Given the description of an element on the screen output the (x, y) to click on. 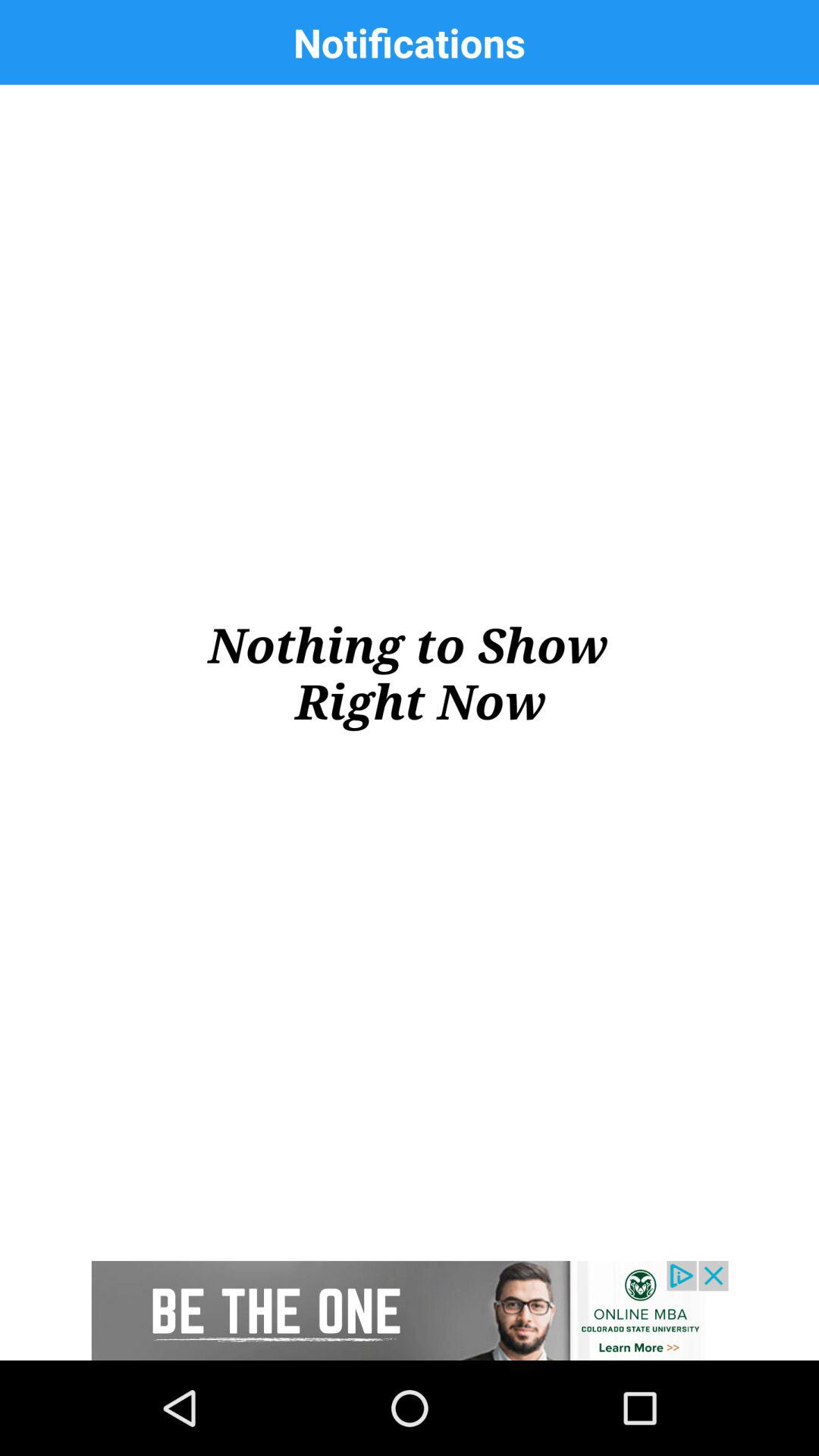
advertisement (409, 1310)
